Given the description of an element on the screen output the (x, y) to click on. 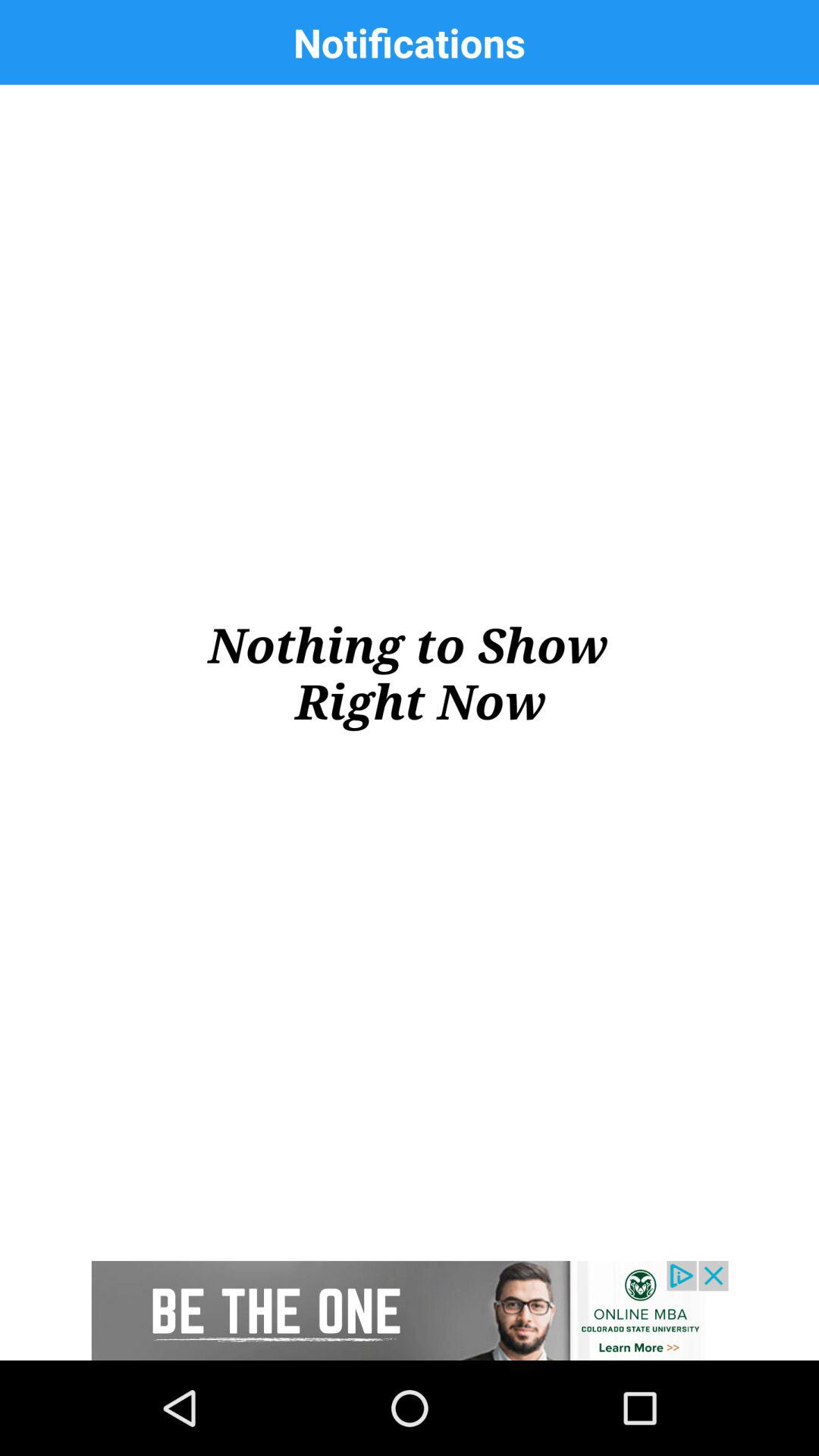
advertisement (409, 1310)
